Given the description of an element on the screen output the (x, y) to click on. 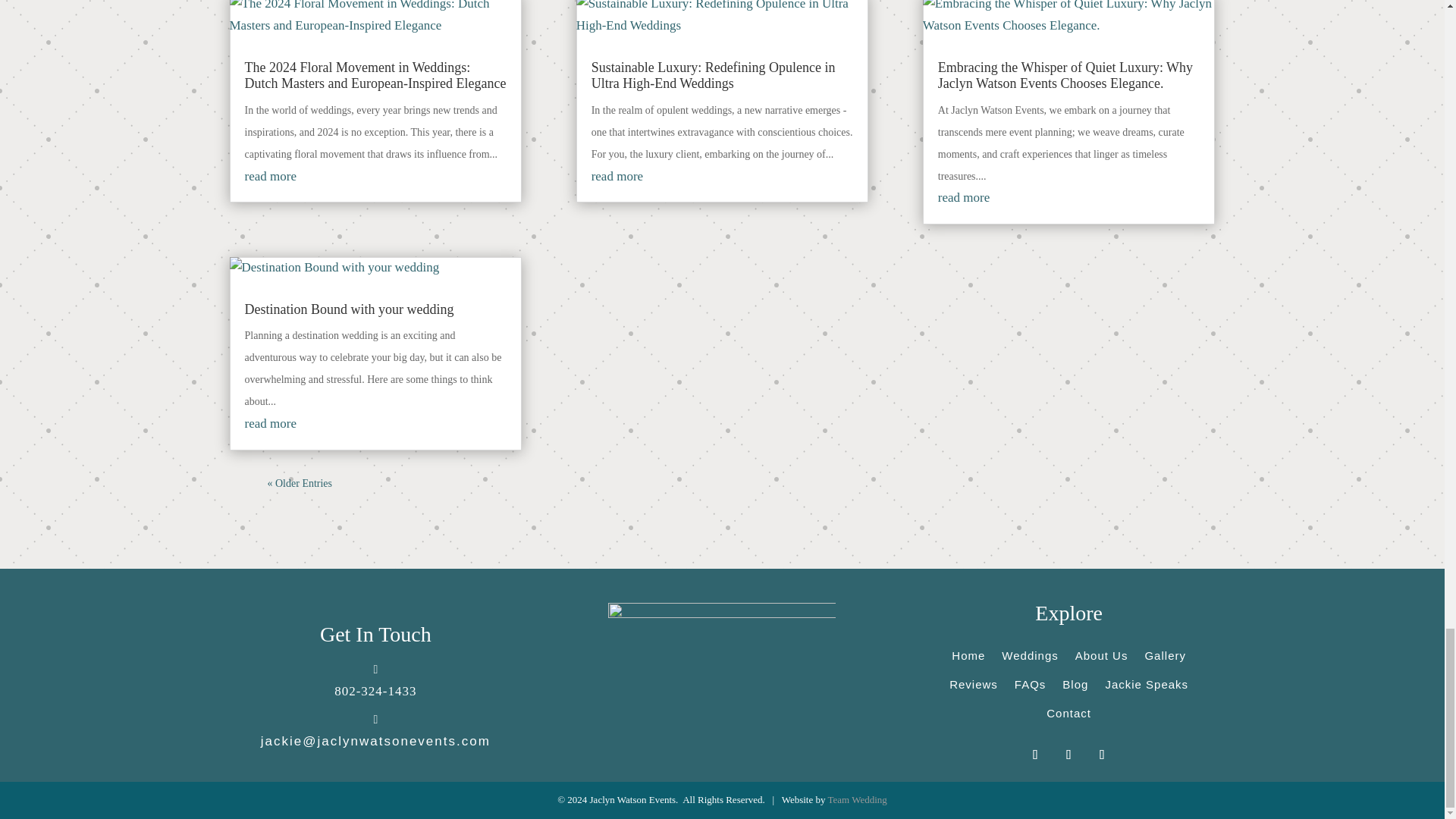
read more (269, 423)
JaclynWatsonLogo-Stacked-White (721, 677)
read more (269, 175)
Destination Bound with your wedding (348, 309)
Follow on Instagram (1069, 754)
Follow on Facebook (1035, 754)
Follow on LinkedIn (1102, 754)
